Given the description of an element on the screen output the (x, y) to click on. 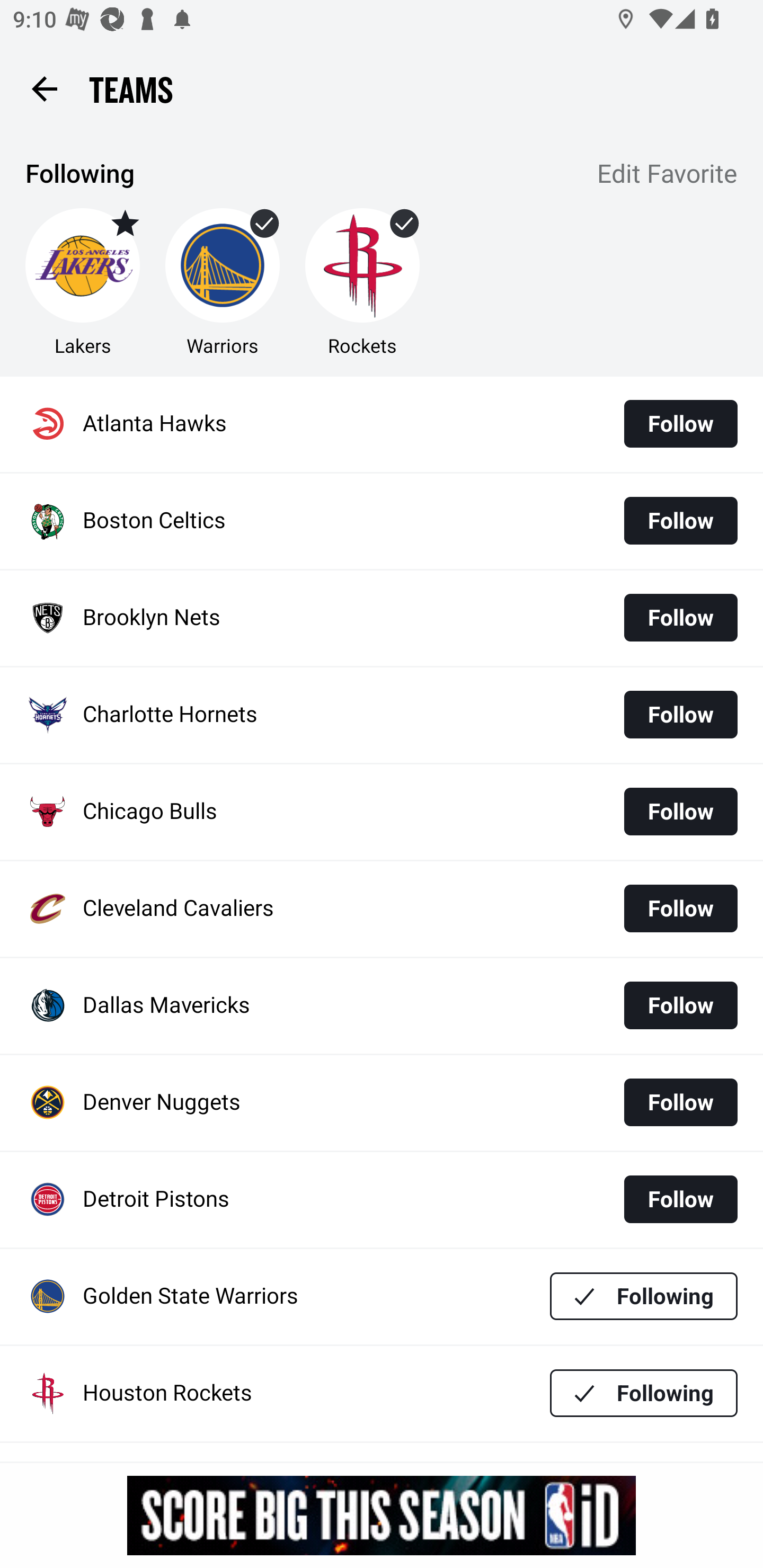
Back button (44, 88)
Edit Favorite (667, 175)
Atlanta Hawks Follow (381, 423)
Follow (680, 423)
Boston Celtics Follow (381, 521)
Follow (680, 520)
Brooklyn Nets Follow (381, 618)
Follow (680, 617)
Charlotte Hornets Follow (381, 714)
Follow (680, 713)
Chicago Bulls Follow (381, 812)
Follow (680, 811)
Cleveland Cavaliers Follow (381, 908)
Follow (680, 908)
Dallas Mavericks Follow (381, 1005)
Follow (680, 1005)
Denver Nuggets Follow (381, 1102)
Follow (680, 1101)
Detroit Pistons Follow (381, 1200)
Follow (680, 1199)
Golden State Warriors Following (381, 1296)
Following (643, 1295)
Houston Rockets Following (381, 1392)
Following (643, 1392)
g5nqqygr7owph (381, 1515)
